Given the description of an element on the screen output the (x, y) to click on. 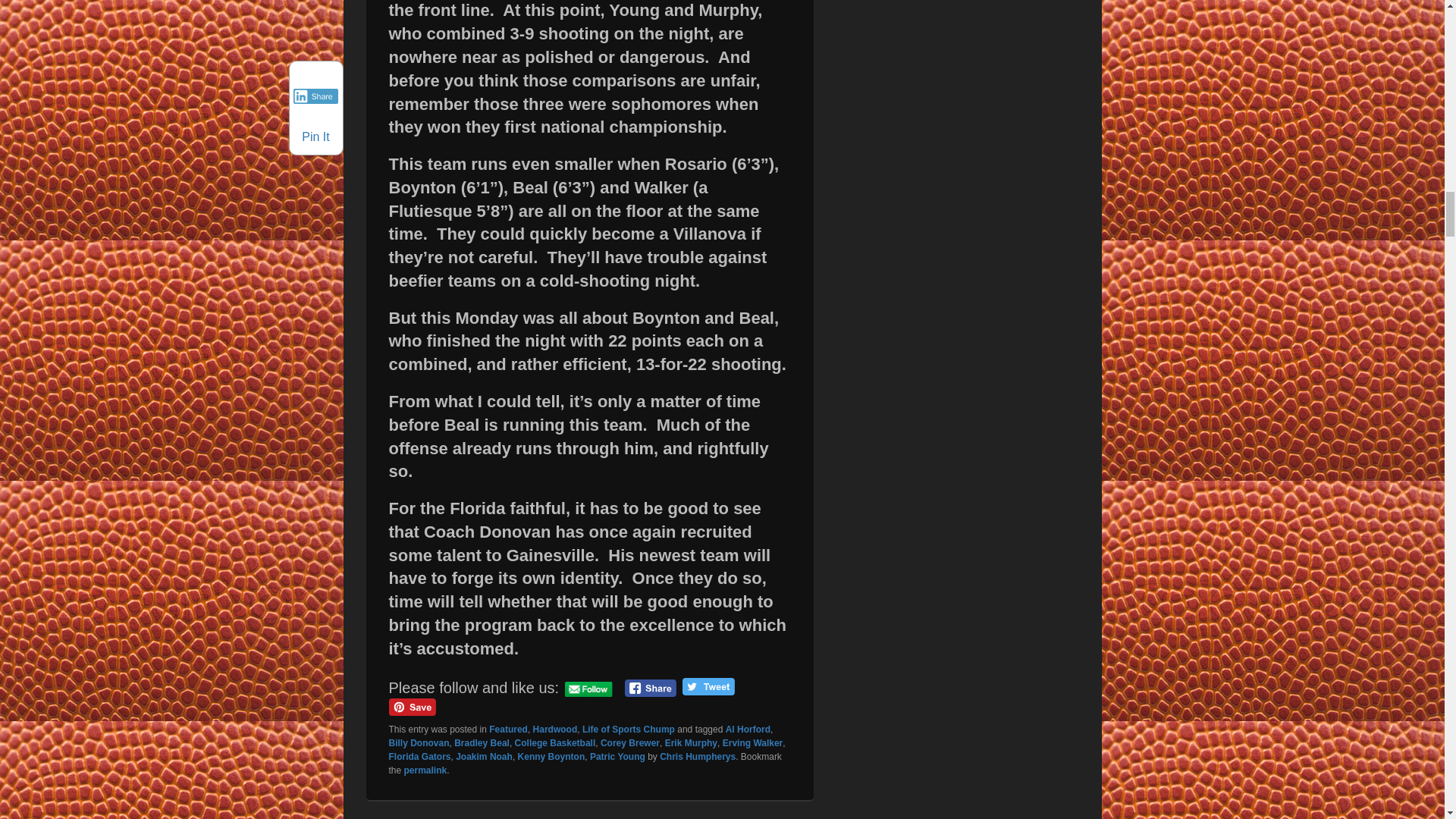
Featured (508, 728)
Erik Murphy (691, 742)
Florida Gators (418, 756)
Joakim Noah (483, 756)
Patric Young (617, 756)
Facebook Share (650, 687)
College Basketball (555, 742)
Kenny Boynton (551, 756)
Erving Walker (752, 742)
Tweet (708, 686)
Pin Share (411, 706)
Bradley Beal (481, 742)
Life of Sports Chump (628, 728)
Billy Donovan (418, 742)
